Given the description of an element on the screen output the (x, y) to click on. 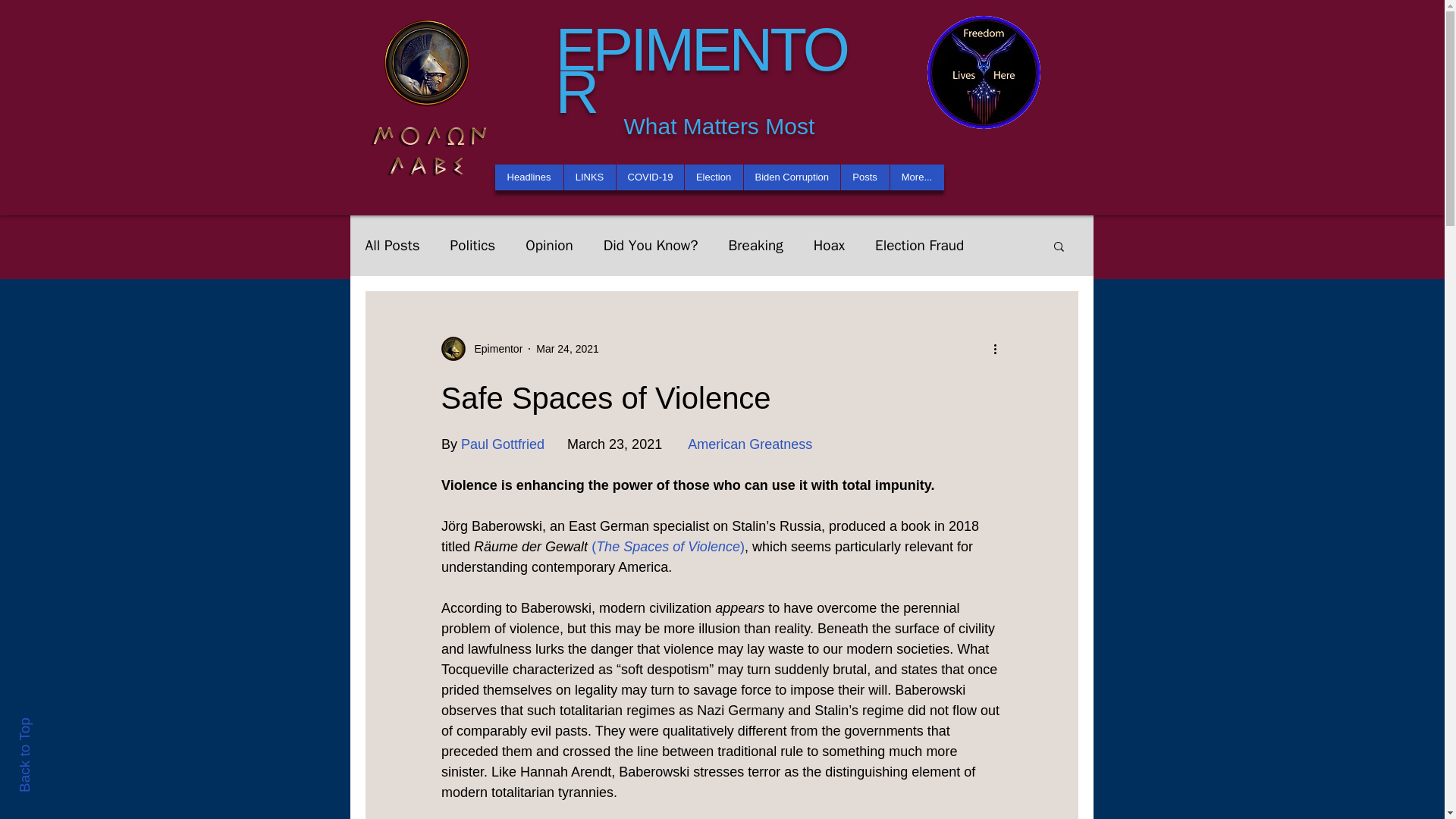
COVID-19 (649, 177)
Posts (864, 177)
Election (713, 177)
Headlines (528, 177)
LINKS (588, 177)
EPIMENTOR (699, 70)
Mar 24, 2021 (566, 348)
Biden Corruption (791, 177)
Epimentor (493, 349)
